Given the description of an element on the screen output the (x, y) to click on. 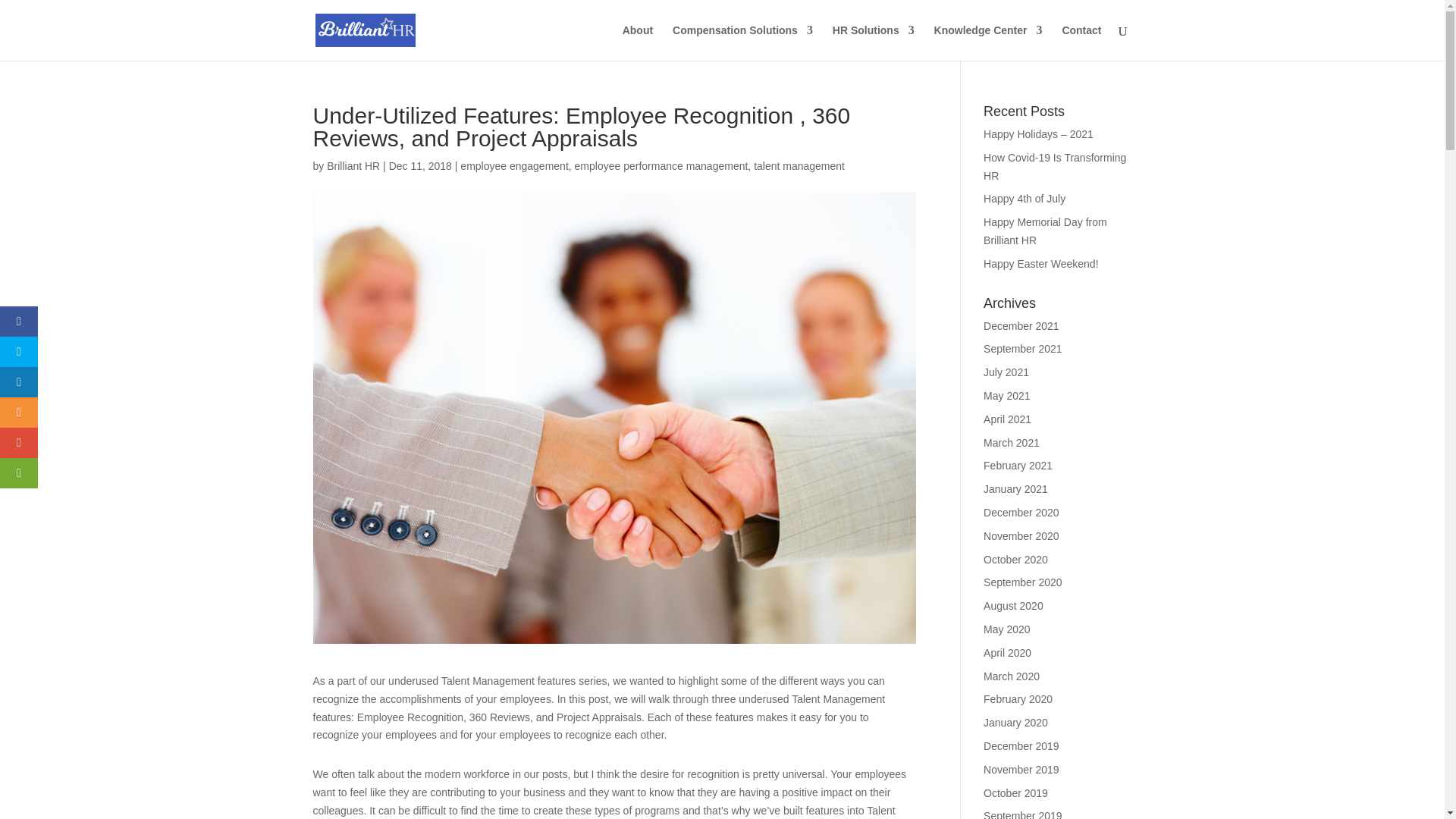
employee performance management (661, 165)
talent management (799, 165)
Compensation Solutions (742, 42)
Contact (1080, 42)
Knowledge Center (988, 42)
Brilliant HR (353, 165)
HR Solutions (873, 42)
Posts by Brilliant HR (353, 165)
employee engagement (513, 165)
